Given the description of an element on the screen output the (x, y) to click on. 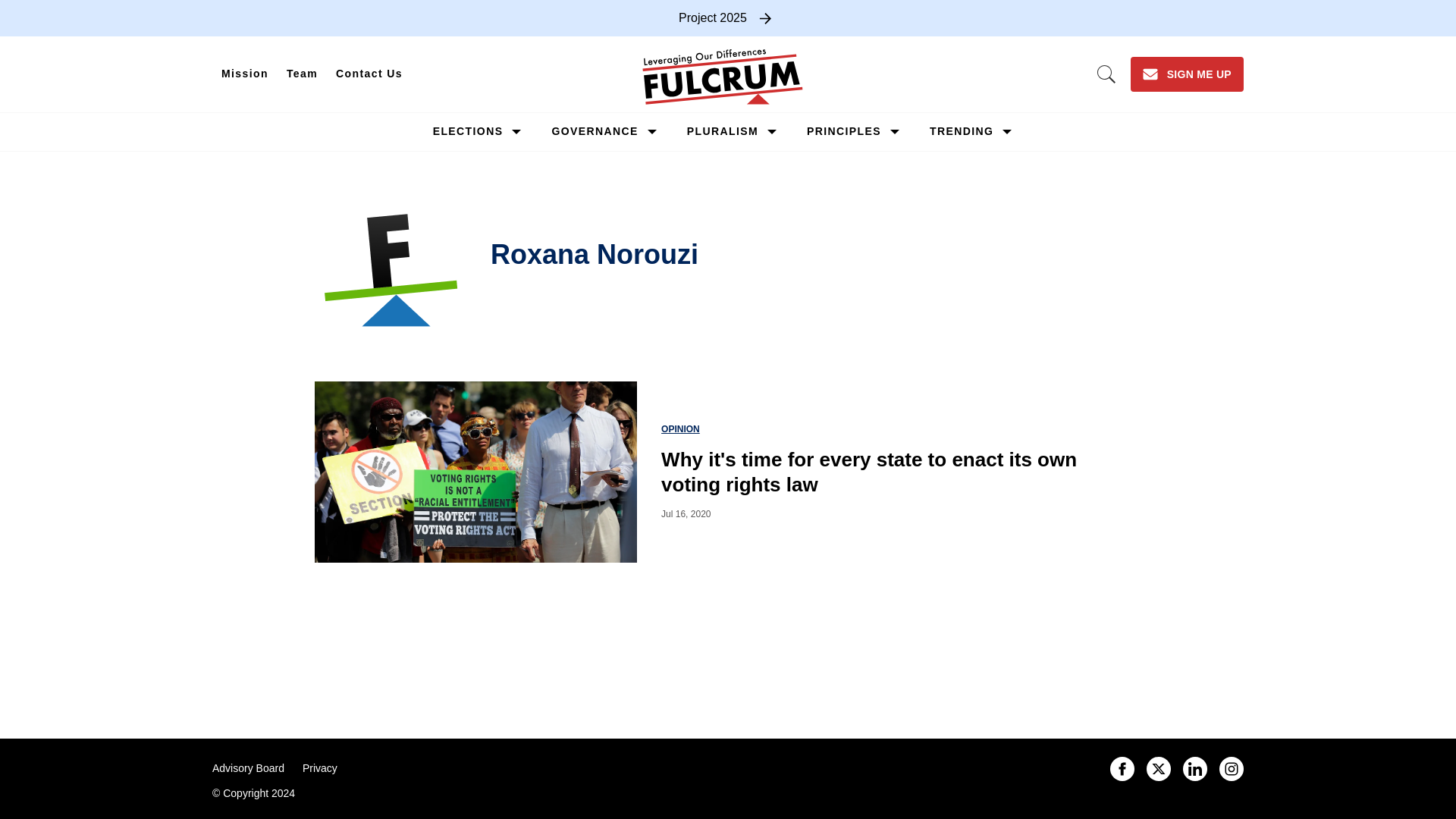
Contact Us (369, 73)
GOVERNANCE (594, 131)
Mission (245, 73)
Open Search (1106, 74)
Team (302, 73)
ELECTIONS (467, 131)
Open Search (1106, 74)
SIGN ME UP (1187, 73)
